Given the description of an element on the screen output the (x, y) to click on. 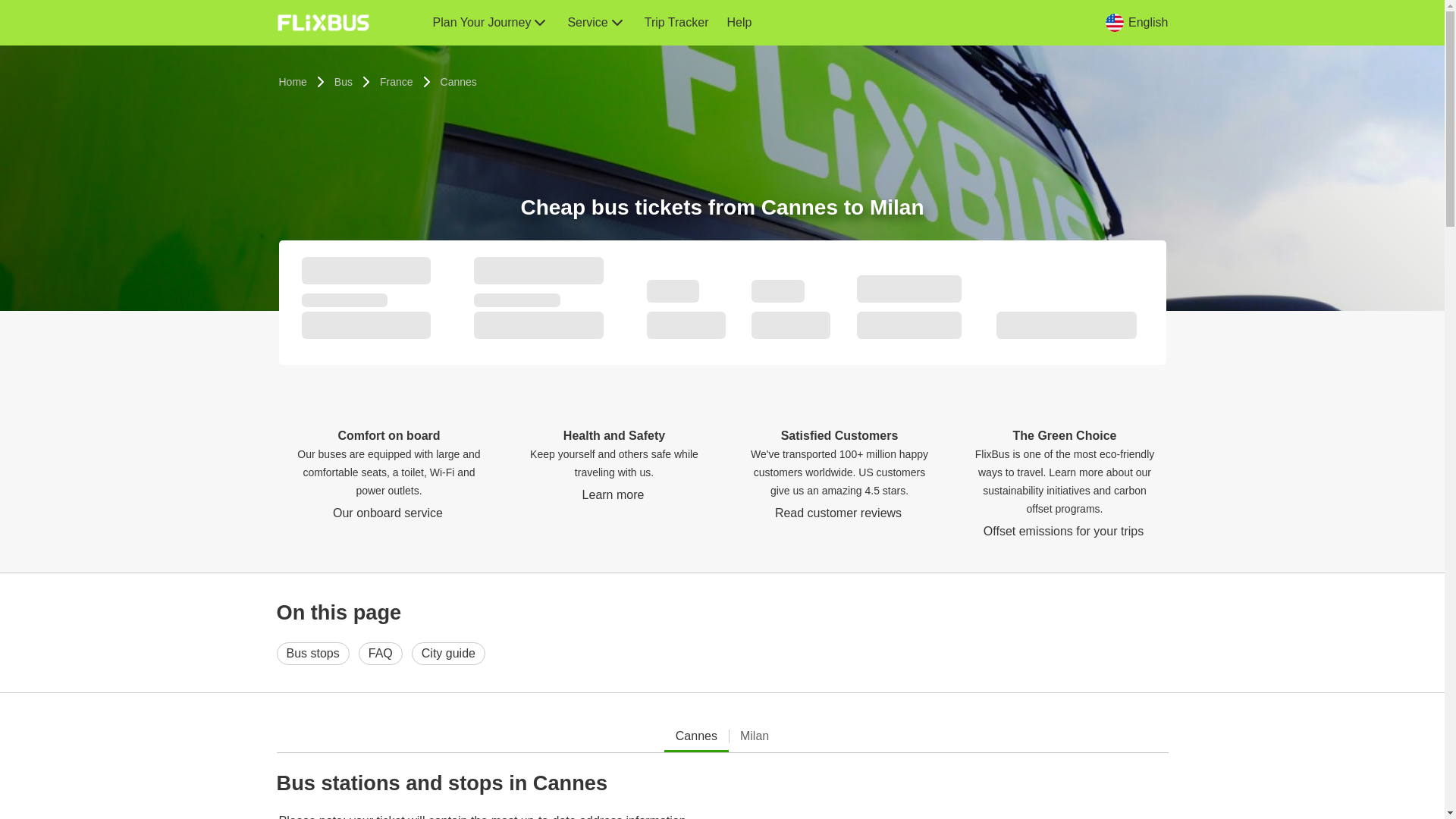
FAQ (380, 653)
Cannes (695, 735)
Bus stops (312, 653)
Bus (343, 81)
Our onboard service (388, 513)
Bus (343, 81)
City guide (448, 653)
Home (292, 81)
Offset emissions for your trips (1064, 531)
Learn more (613, 494)
